Given the description of an element on the screen output the (x, y) to click on. 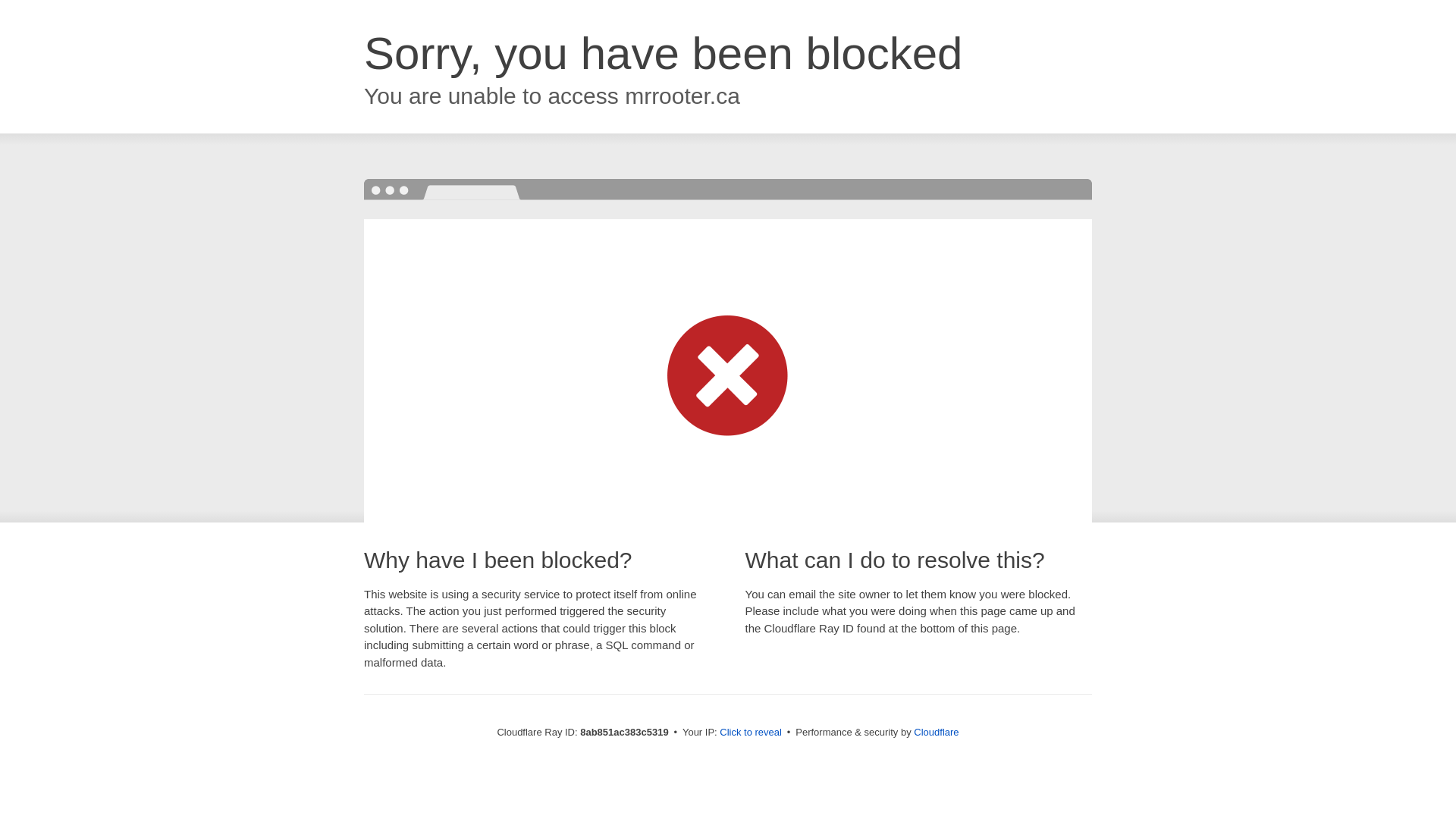
Click to reveal (750, 732)
Cloudflare (936, 731)
